Given the description of an element on the screen output the (x, y) to click on. 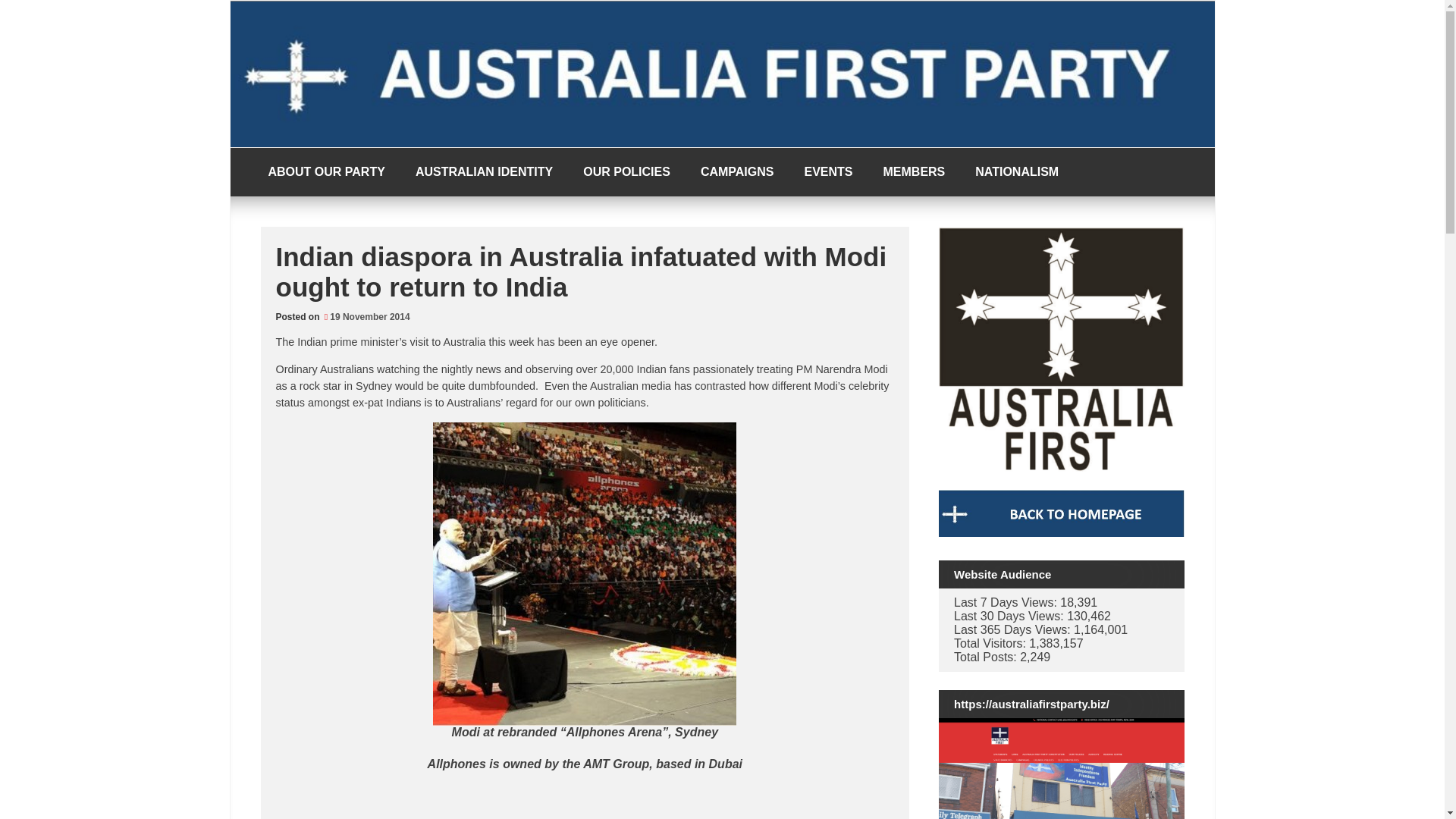
AUSTRALIAN IDENTITY (483, 172)
ABOUT OUR PARTY (326, 172)
OUR POLICIES (626, 172)
CAMPAIGNS (737, 172)
